Given the description of an element on the screen output the (x, y) to click on. 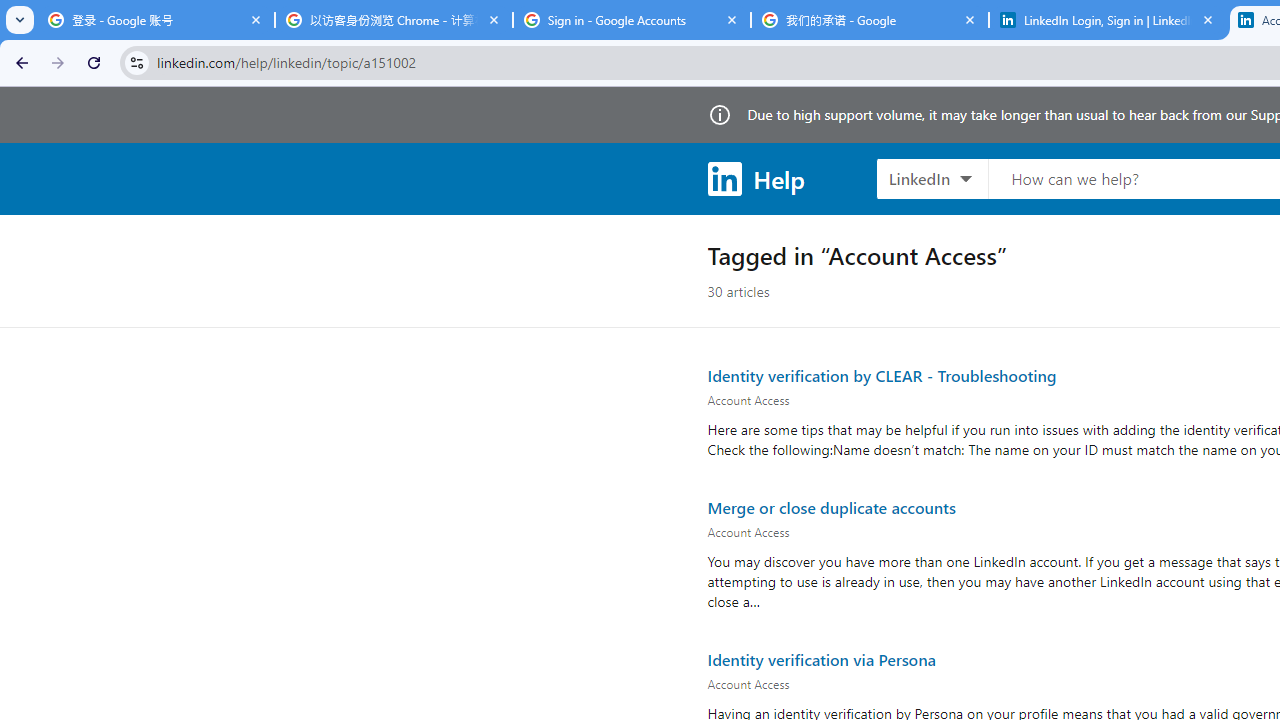
Identity verification by CLEAR - Troubleshooting (881, 374)
Merge or close duplicate accounts (831, 506)
Help (755, 178)
LinkedIn products to search, LinkedIn selected (932, 178)
Identity verification via Persona (820, 659)
LinkedIn Login, Sign in | LinkedIn (1108, 20)
Sign in - Google Accounts (632, 20)
